Given the description of an element on the screen output the (x, y) to click on. 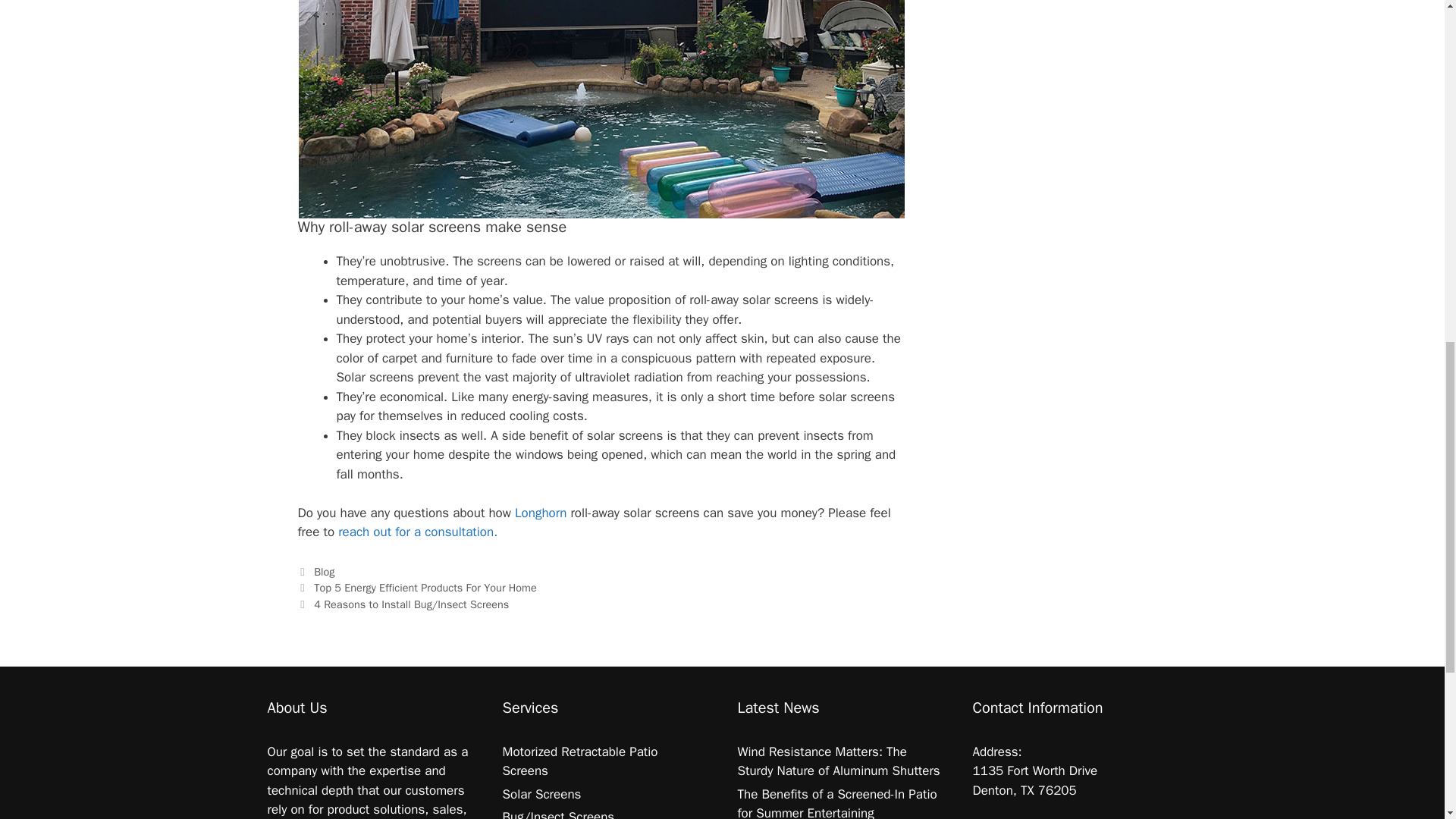
Longhorn (542, 512)
Previous (416, 587)
reach out for a consultation. (417, 531)
Next (402, 603)
